Given the description of an element on the screen output the (x, y) to click on. 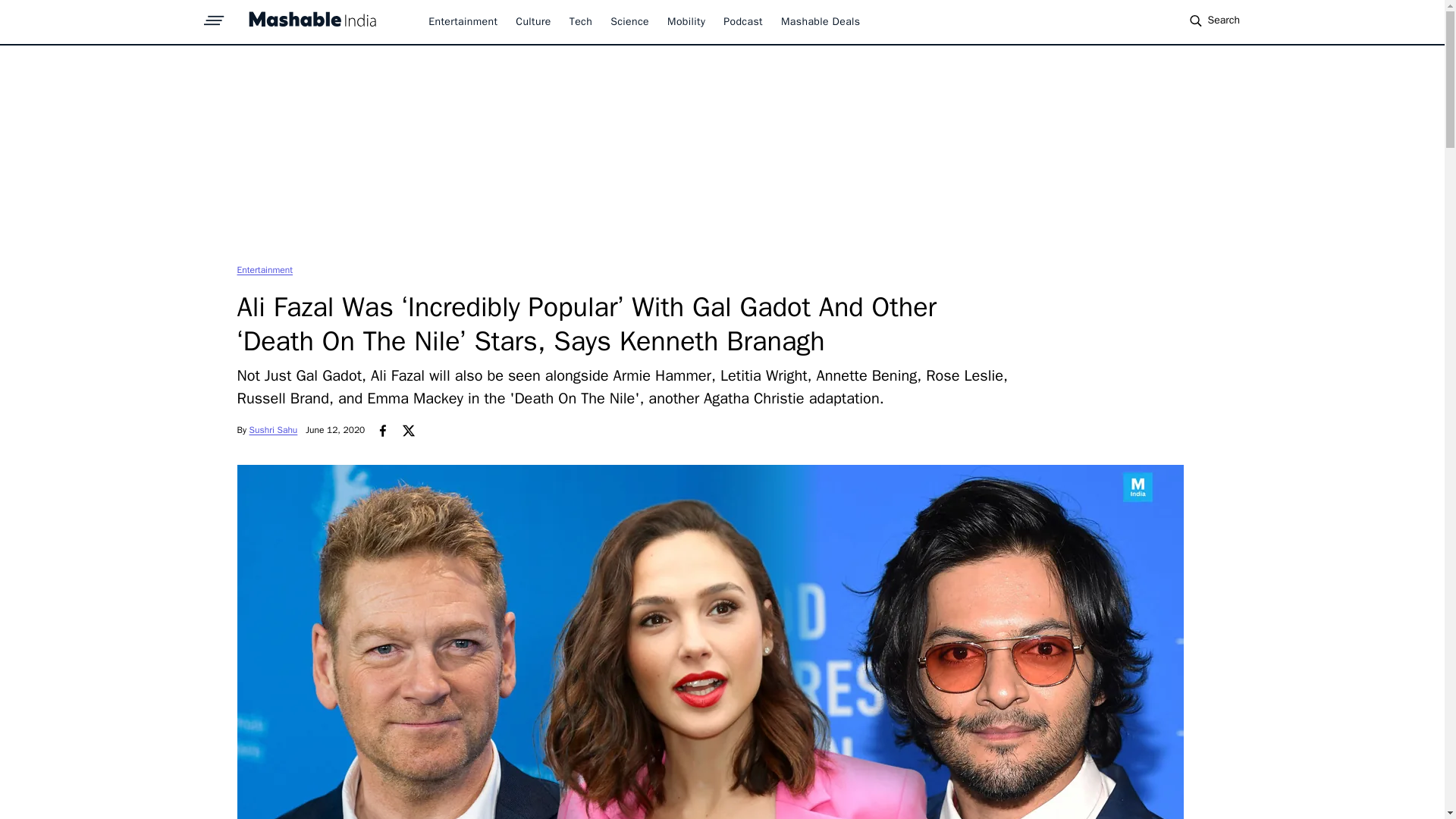
Entertainment (263, 269)
Entertainment (462, 21)
Culture (532, 21)
Podcast (742, 21)
Tech (580, 21)
Mobility (685, 21)
Science (629, 21)
Mashable Deals (820, 21)
sprite-hamburger (213, 16)
Entertainment (263, 269)
